Given the description of an element on the screen output the (x, y) to click on. 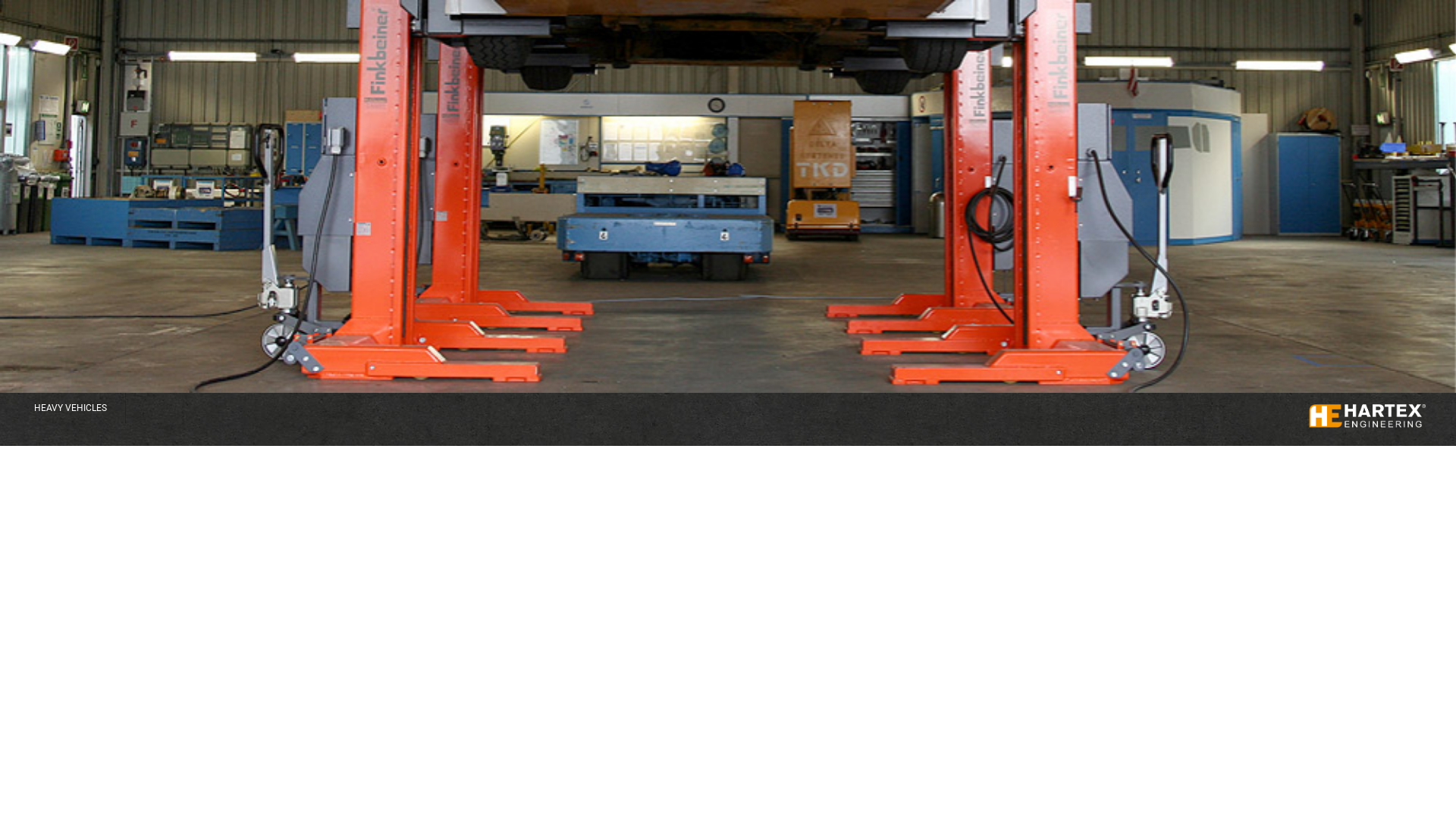
HEAVY VEHICLES Element type: text (70, 407)
